Given the description of an element on the screen output the (x, y) to click on. 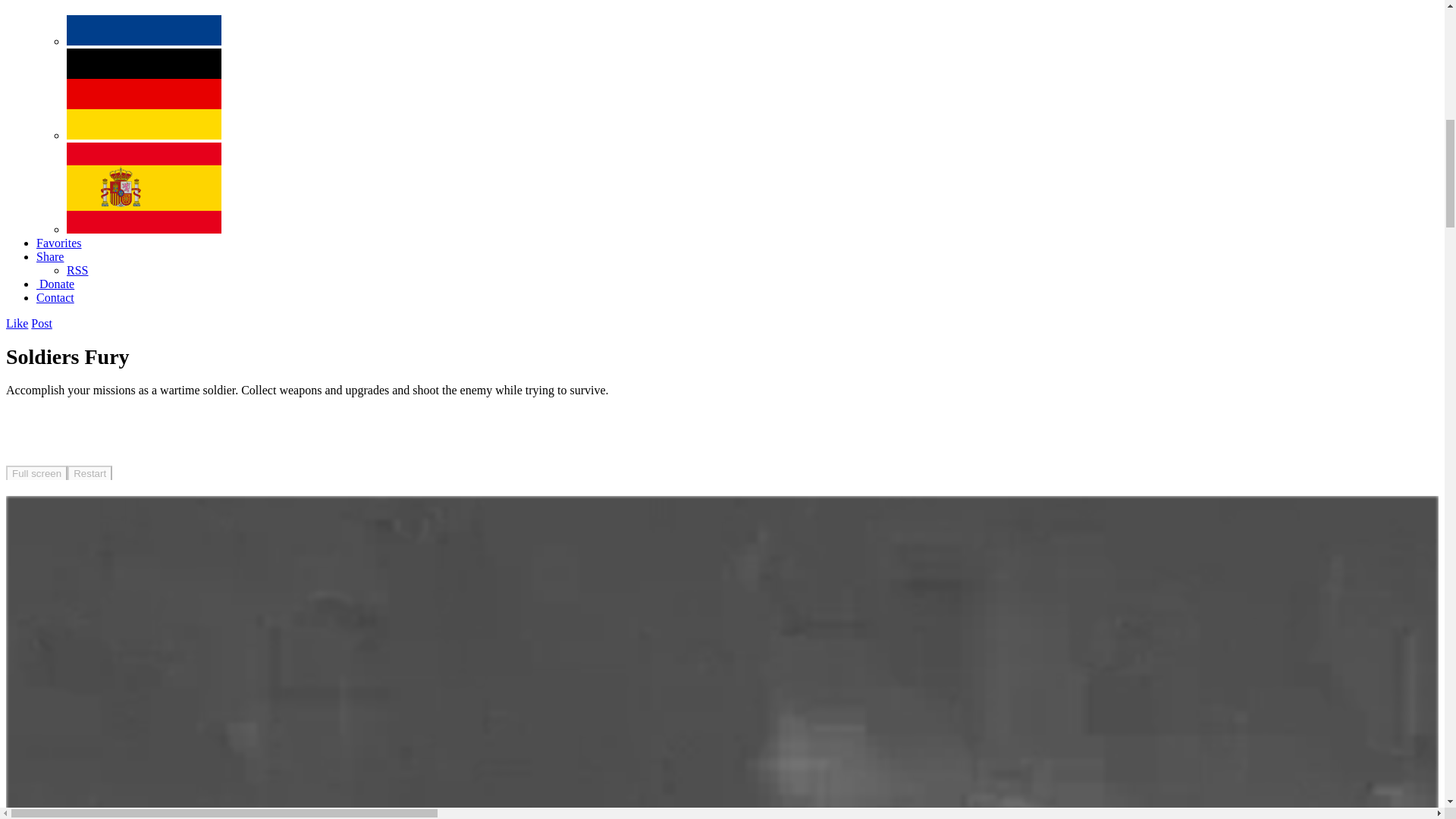
Share (50, 256)
RSS (76, 269)
Juegos Accion (143, 228)
Aktion Spiele (143, 134)
Restart (89, 472)
Full screen (35, 472)
Soldiers Fury Full Screen (35, 472)
Actiespellen (143, 41)
Post (41, 323)
Contact (55, 297)
